Given the description of an element on the screen output the (x, y) to click on. 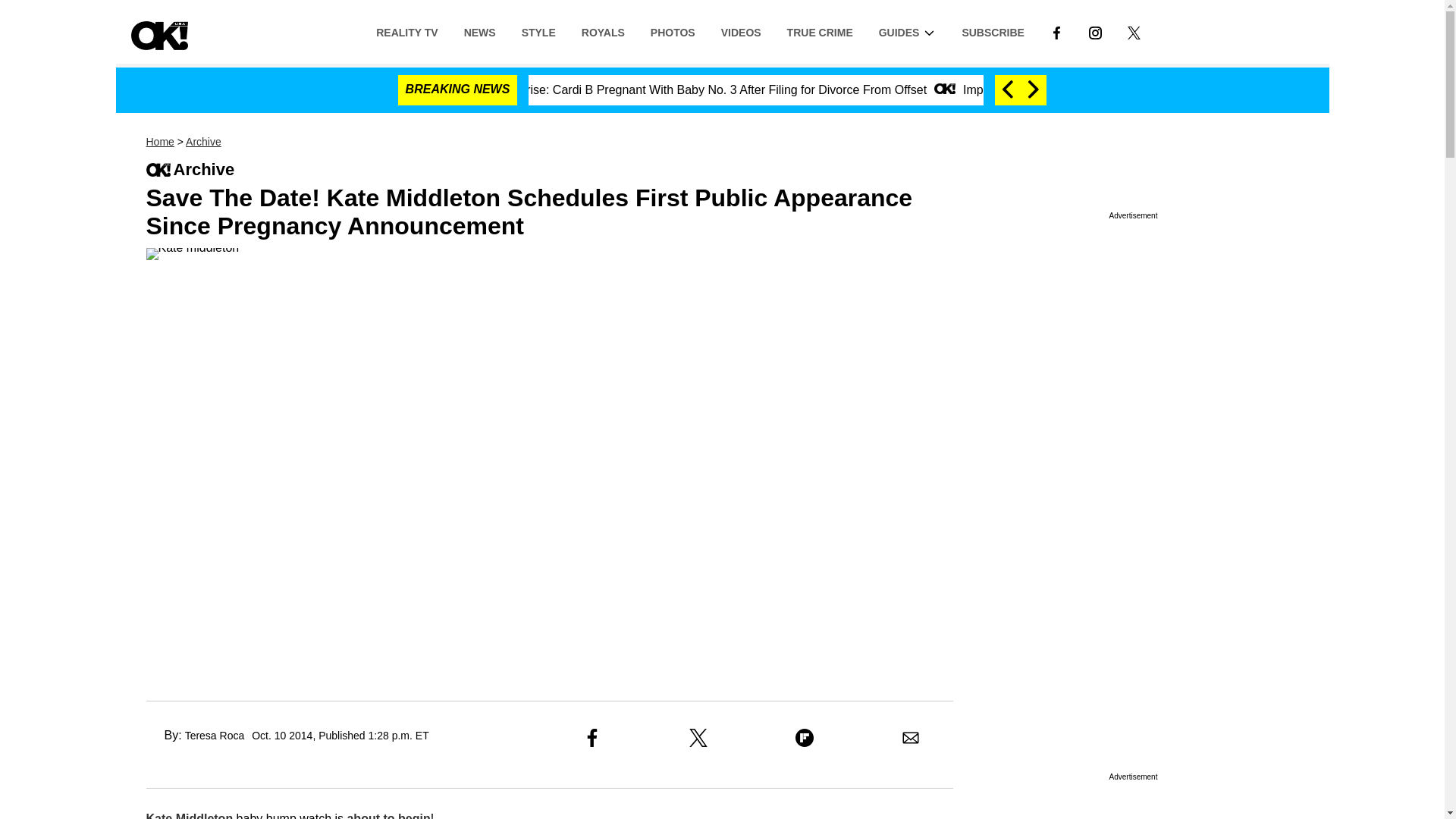
LINK TO FACEBOOK (1055, 32)
Link to Instagram (1095, 31)
Link to Facebook (1055, 31)
STYLE (538, 31)
LINK TO X (1133, 32)
Share to X (697, 737)
Share to Email (909, 737)
Kate Middleton (188, 815)
Home (159, 141)
about to begin (387, 815)
VIDEOS (740, 31)
SUBSCRIBE (992, 31)
Link to X (1134, 31)
LINK TO X (1134, 31)
